Given the description of an element on the screen output the (x, y) to click on. 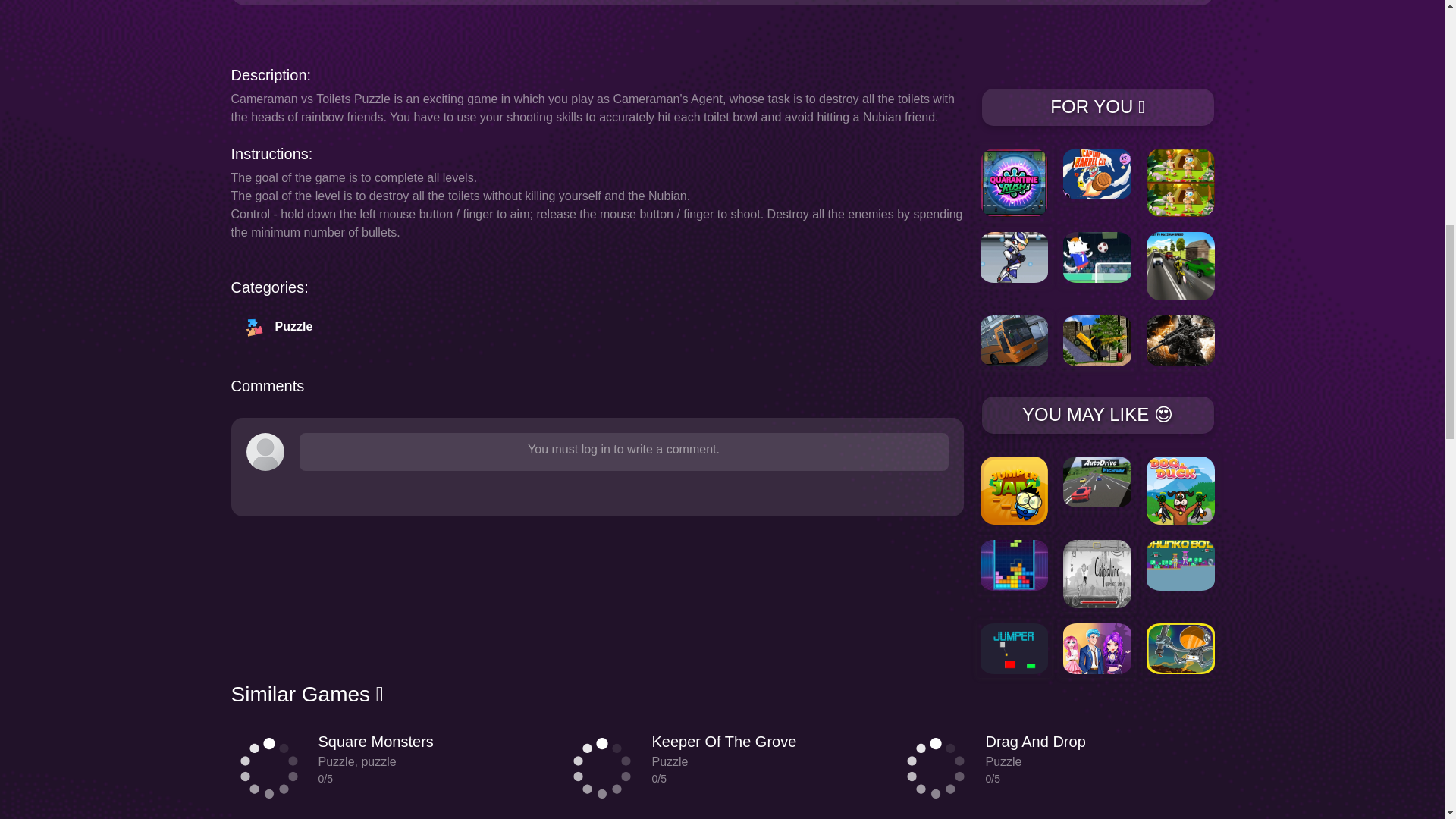
Puzzle (282, 333)
